Given the description of an element on the screen output the (x, y) to click on. 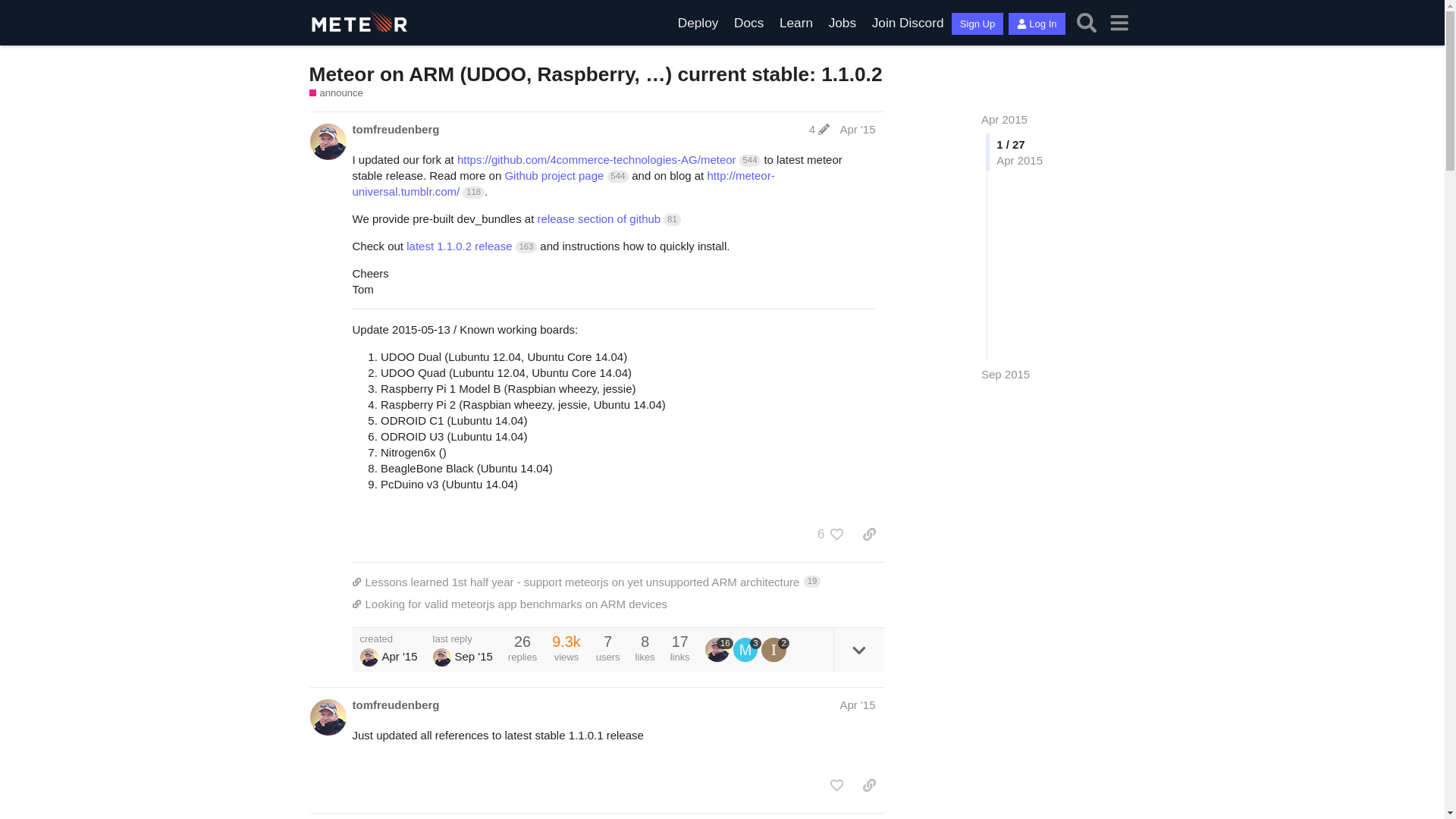
Github project page 544 (565, 174)
post last edited on May 13, 2015 7:23 am (819, 128)
Looking for valid meteorjs app benchmarks on ARM devices (617, 603)
81 clicks (671, 219)
544 clicks (749, 160)
Post date (857, 128)
The premier job board space specifically for Meteor (842, 22)
announce (335, 92)
544 clicks (617, 176)
Deploy (697, 22)
Sign Up (977, 24)
16 (718, 649)
tomfreudenberg (395, 129)
3 (747, 649)
